Given the description of an element on the screen output the (x, y) to click on. 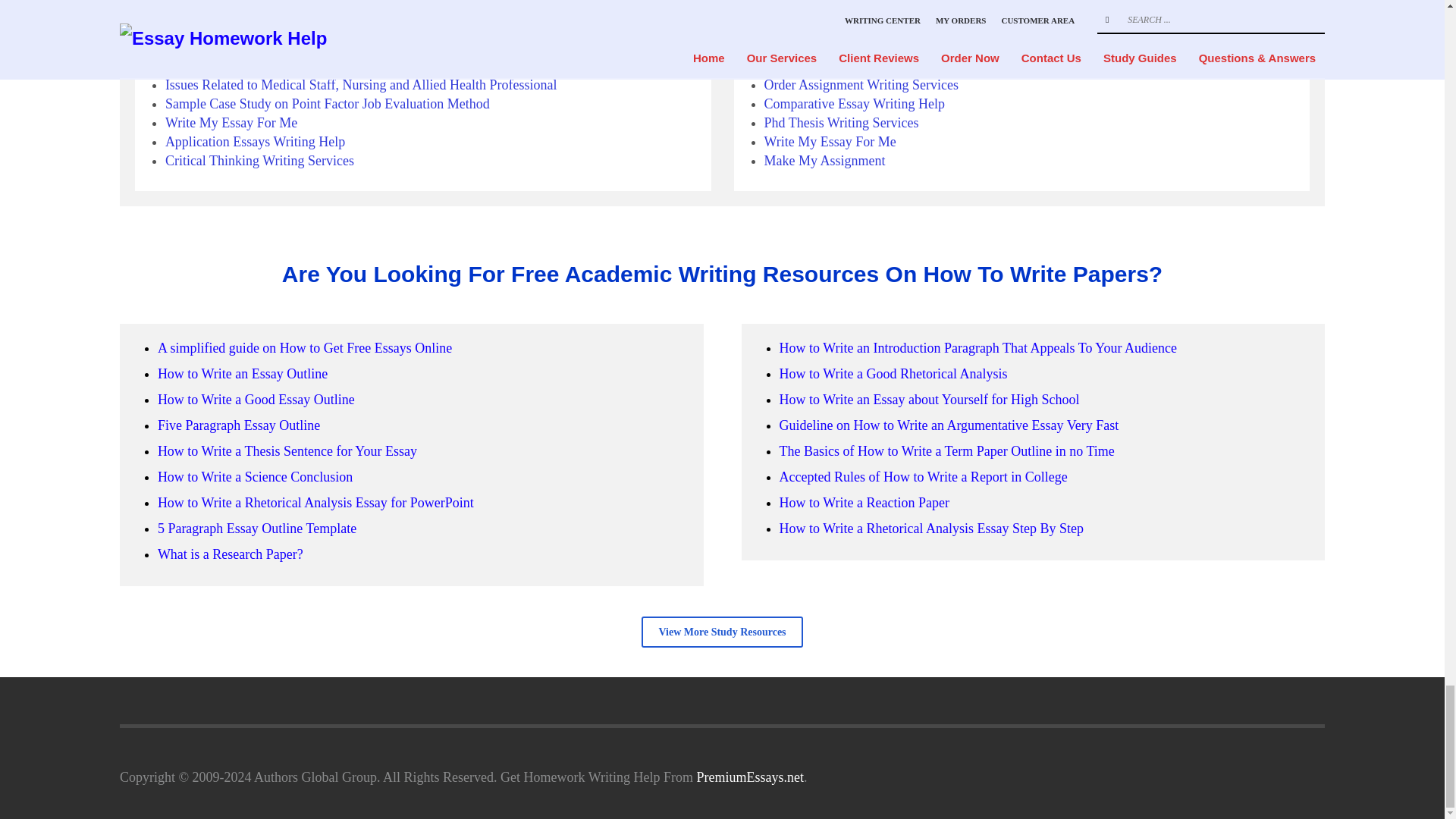
Write My Essay For Me (231, 122)
Application Essays Writing Help (255, 141)
Write A Non-Plagiarized Essay (250, 8)
Sample Case Study on Point Factor Job Evaluation Method (327, 103)
Help Do A Research Paper (238, 46)
How To Write A Non Plagiarized Research Paper (299, 28)
